Given the description of an element on the screen output the (x, y) to click on. 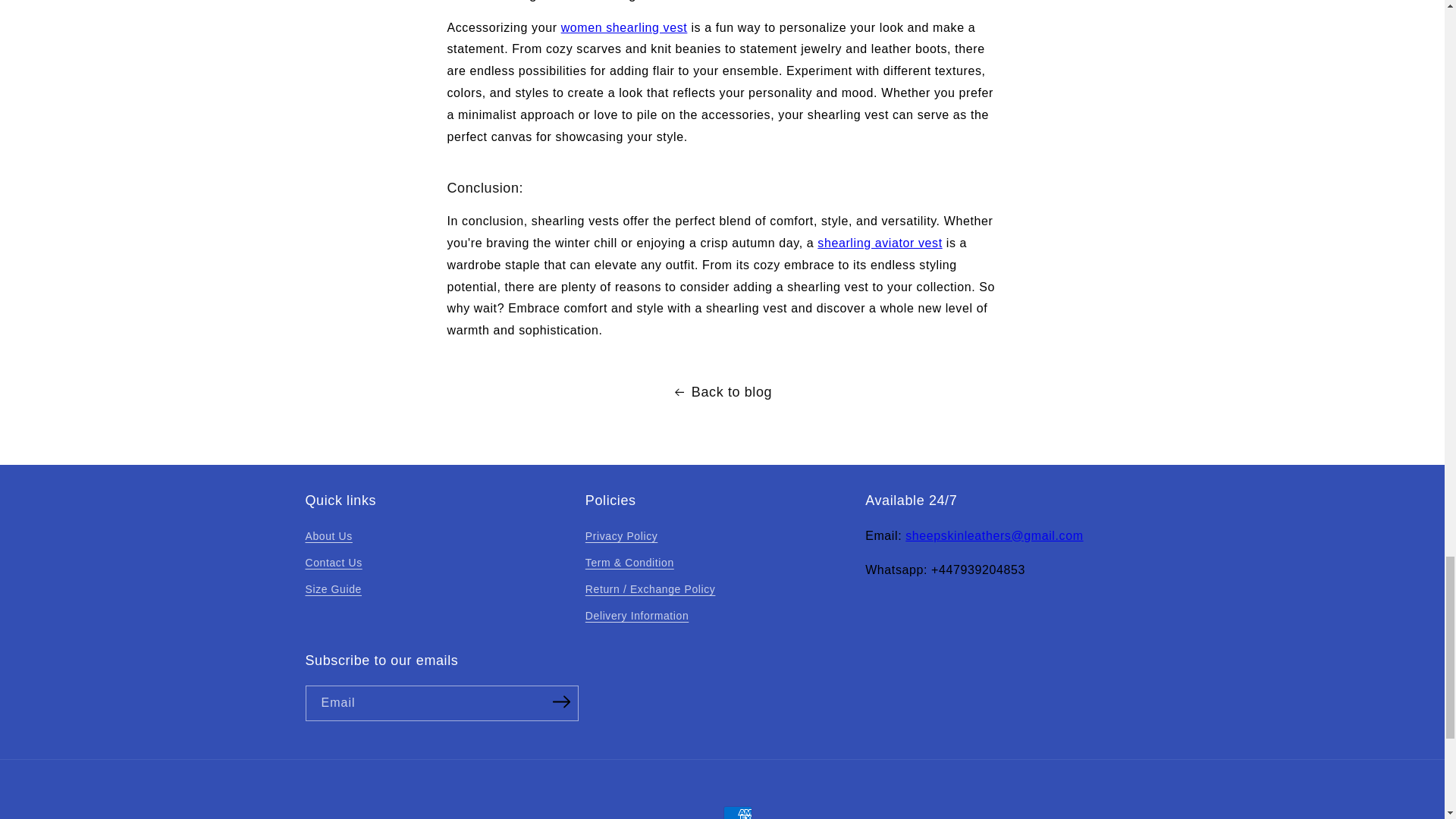
American Express (737, 812)
